Given the description of an element on the screen output the (x, y) to click on. 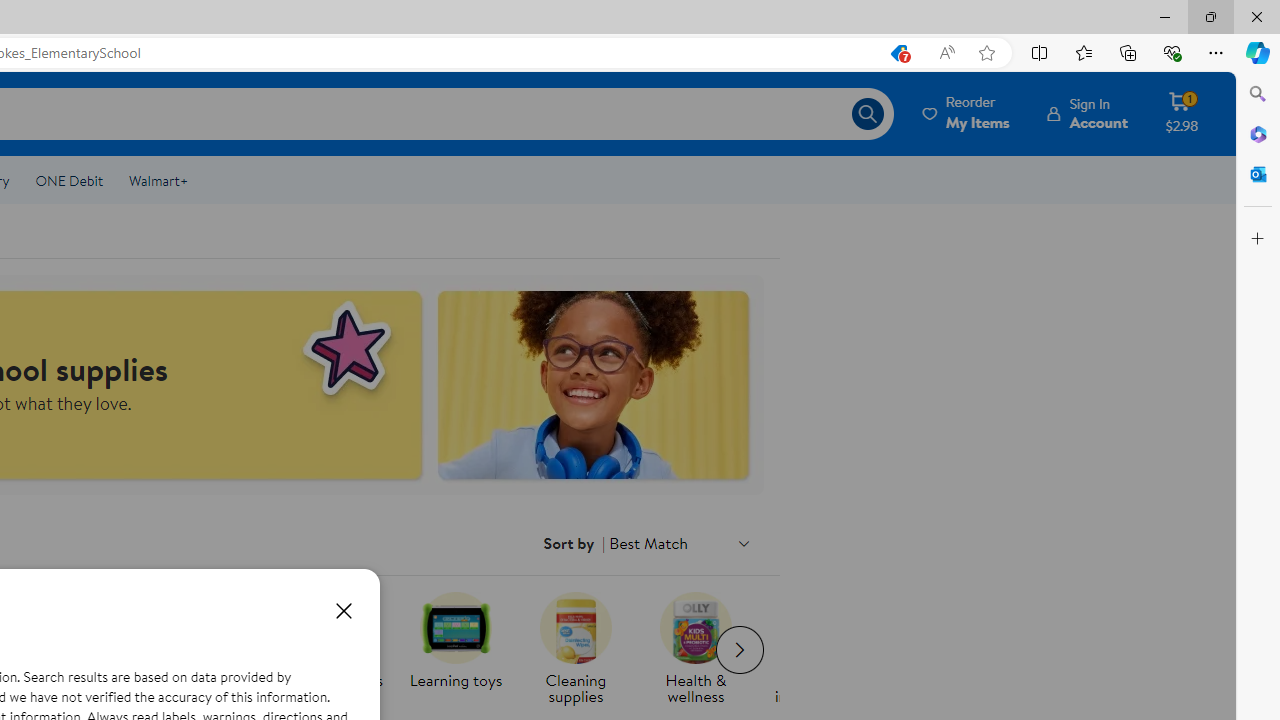
This site has coupons! Shopping in Microsoft Edge, 7 (898, 53)
Close dialog (343, 610)
